Given the description of an element on the screen output the (x, y) to click on. 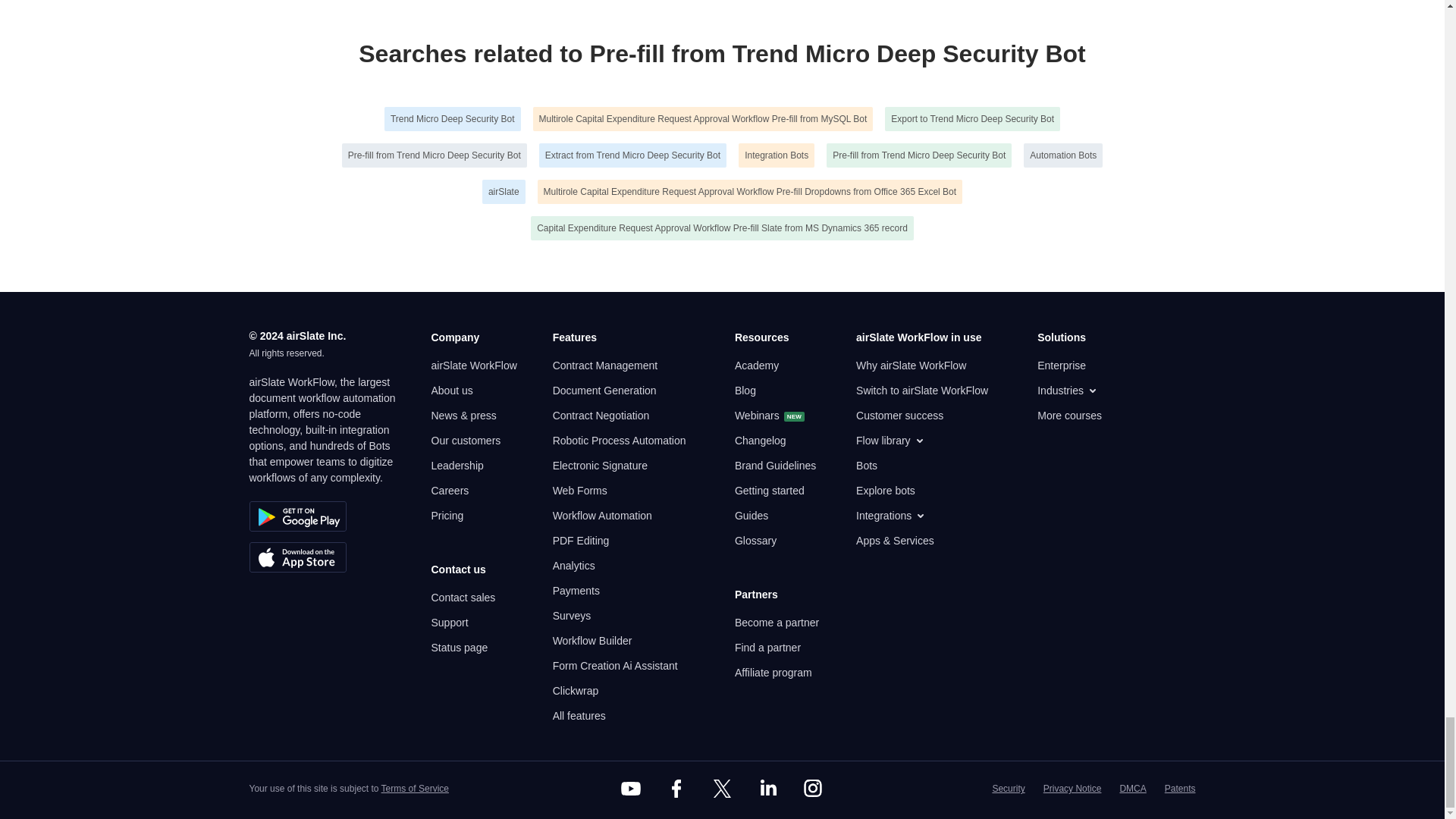
LinkedIn (767, 788)
YouTube (630, 788)
Twitter (721, 788)
Facebook (676, 788)
Instagram (812, 788)
